Given the description of an element on the screen output the (x, y) to click on. 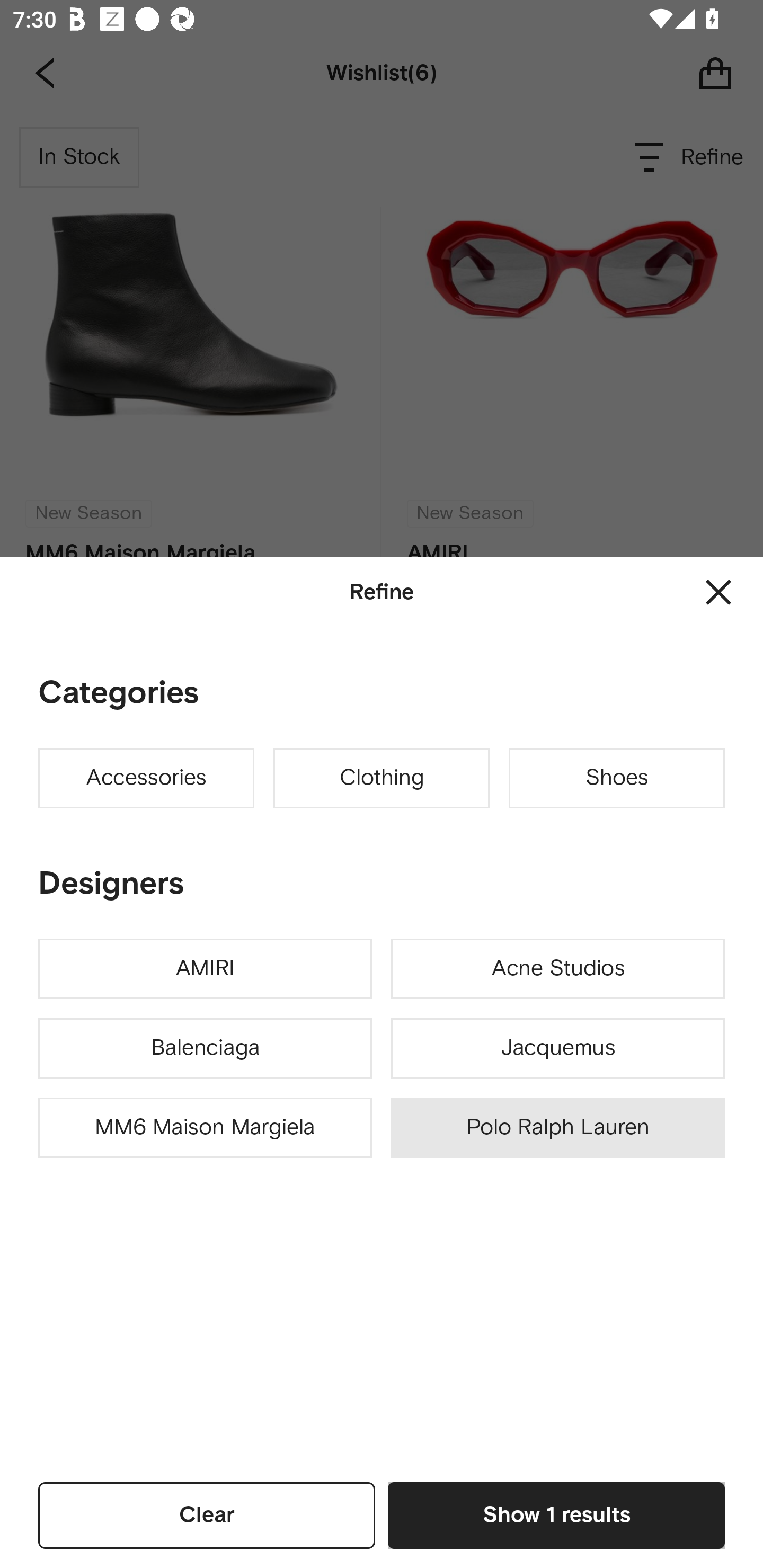
Accessories (146, 778)
Clothing (381, 778)
Shoes (616, 778)
AMIRI (205, 968)
Acne Studios (557, 968)
Balenciaga (205, 1047)
Jacquemus (557, 1047)
MM6 Maison Margiela (205, 1127)
Polo Ralph Lauren (557, 1127)
Clear (206, 1515)
Show 1 results (555, 1515)
